Given the description of an element on the screen output the (x, y) to click on. 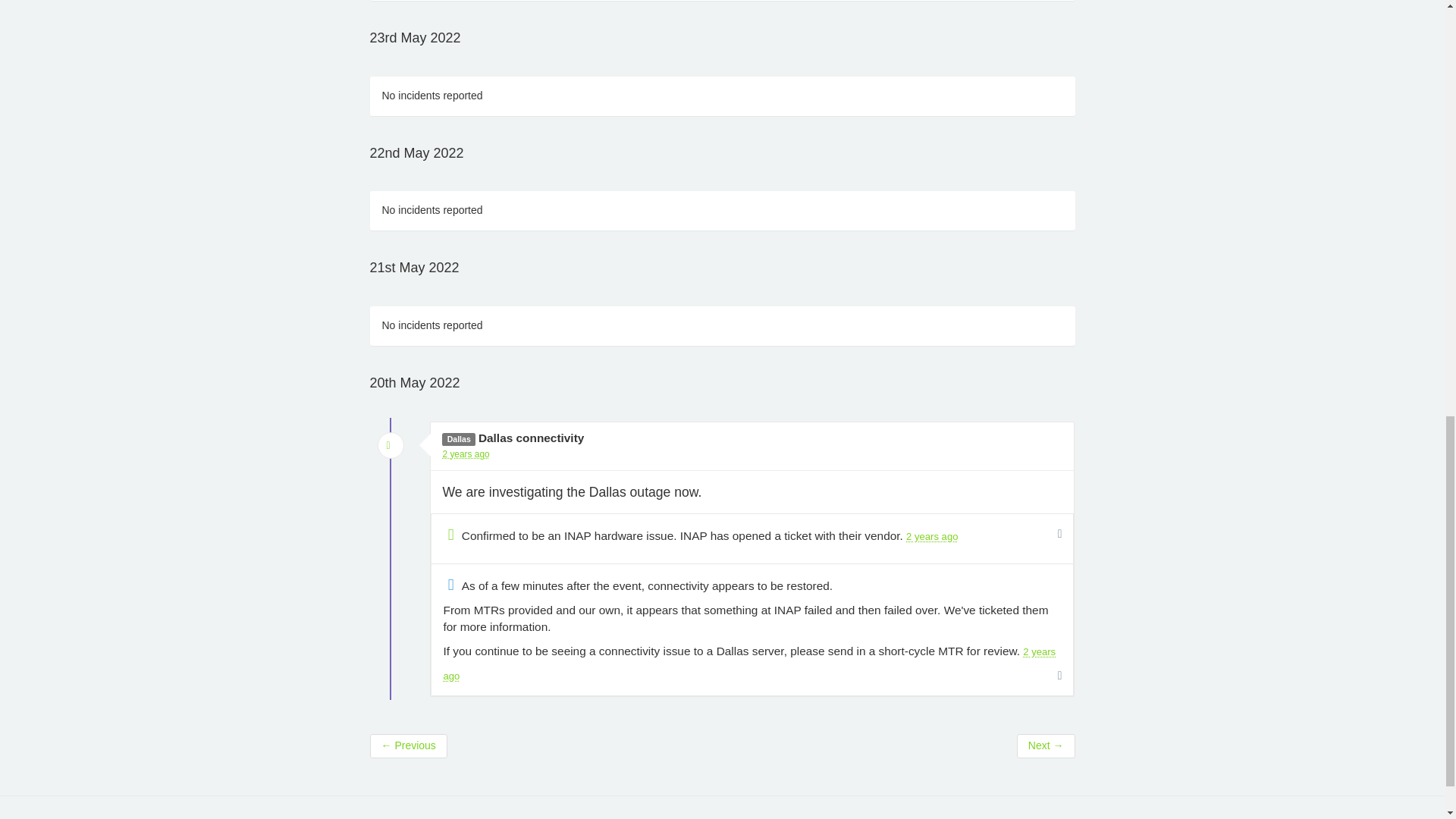
2 years ago (465, 453)
